Given the description of an element on the screen output the (x, y) to click on. 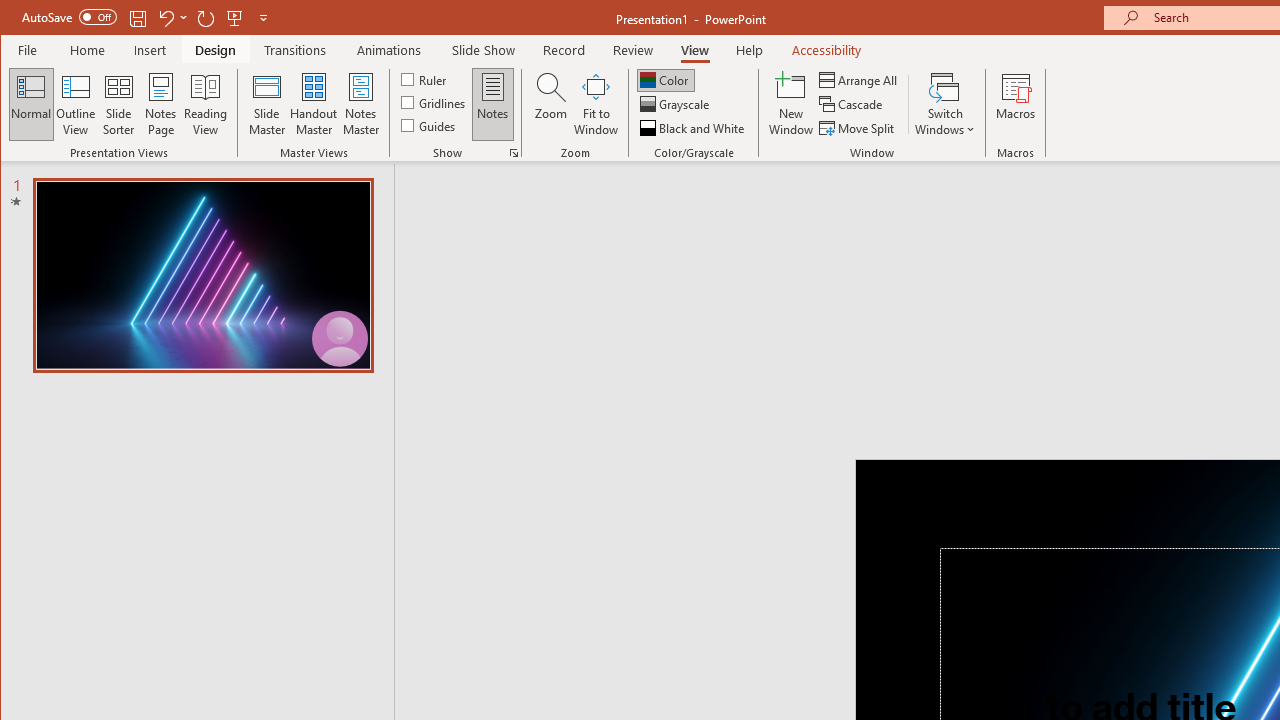
Handout Master (314, 104)
Notes (493, 104)
Grid Settings... (513, 152)
Notes Master (360, 104)
Cascade (852, 103)
